Given the description of an element on the screen output the (x, y) to click on. 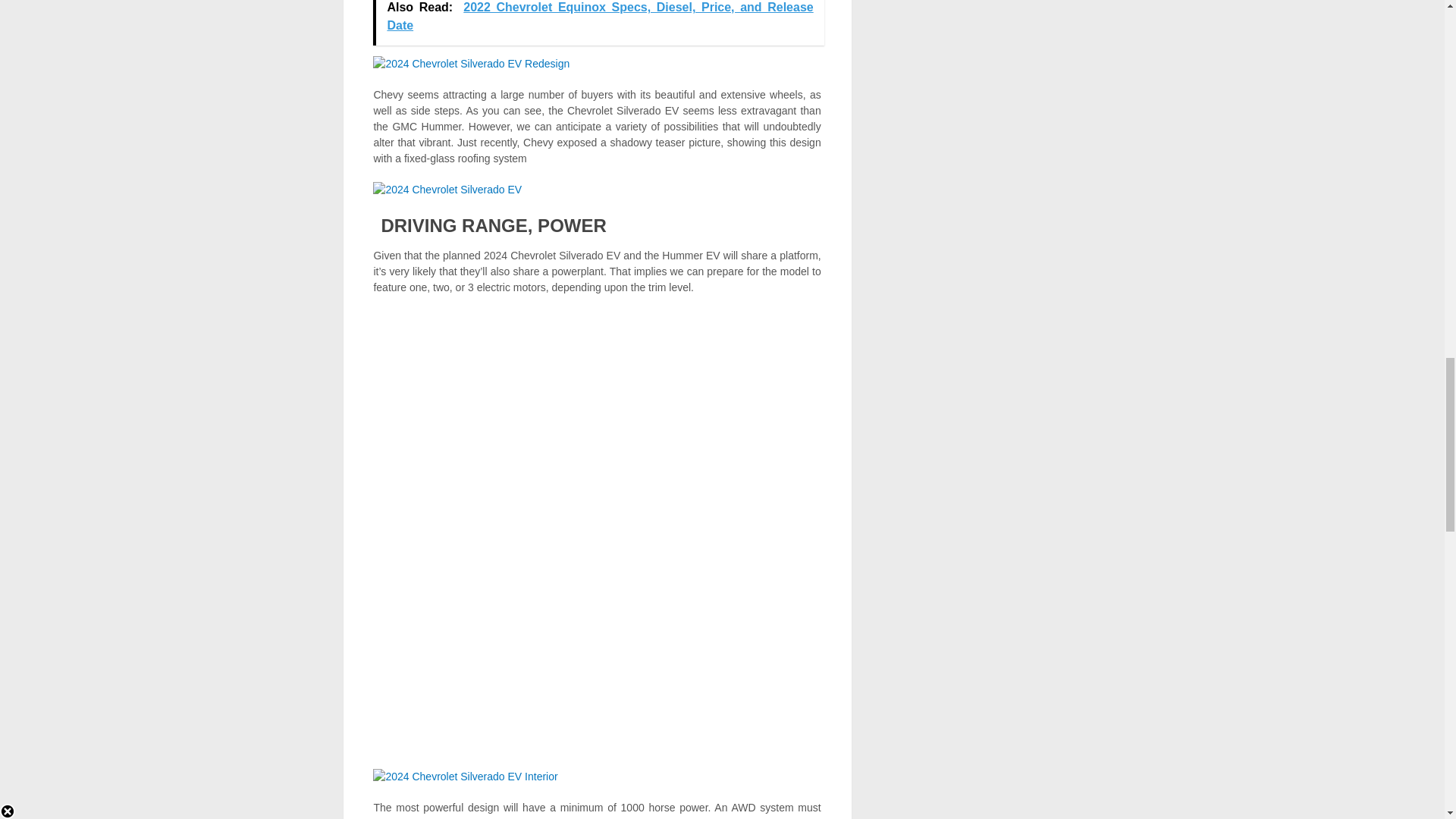
2024 Chevrolet Silverado EV Redesign (470, 63)
2024 Chevrolet Silverado EV Interior (464, 776)
2024 Chevrolet Silverado EV (446, 189)
